Given the description of an element on the screen output the (x, y) to click on. 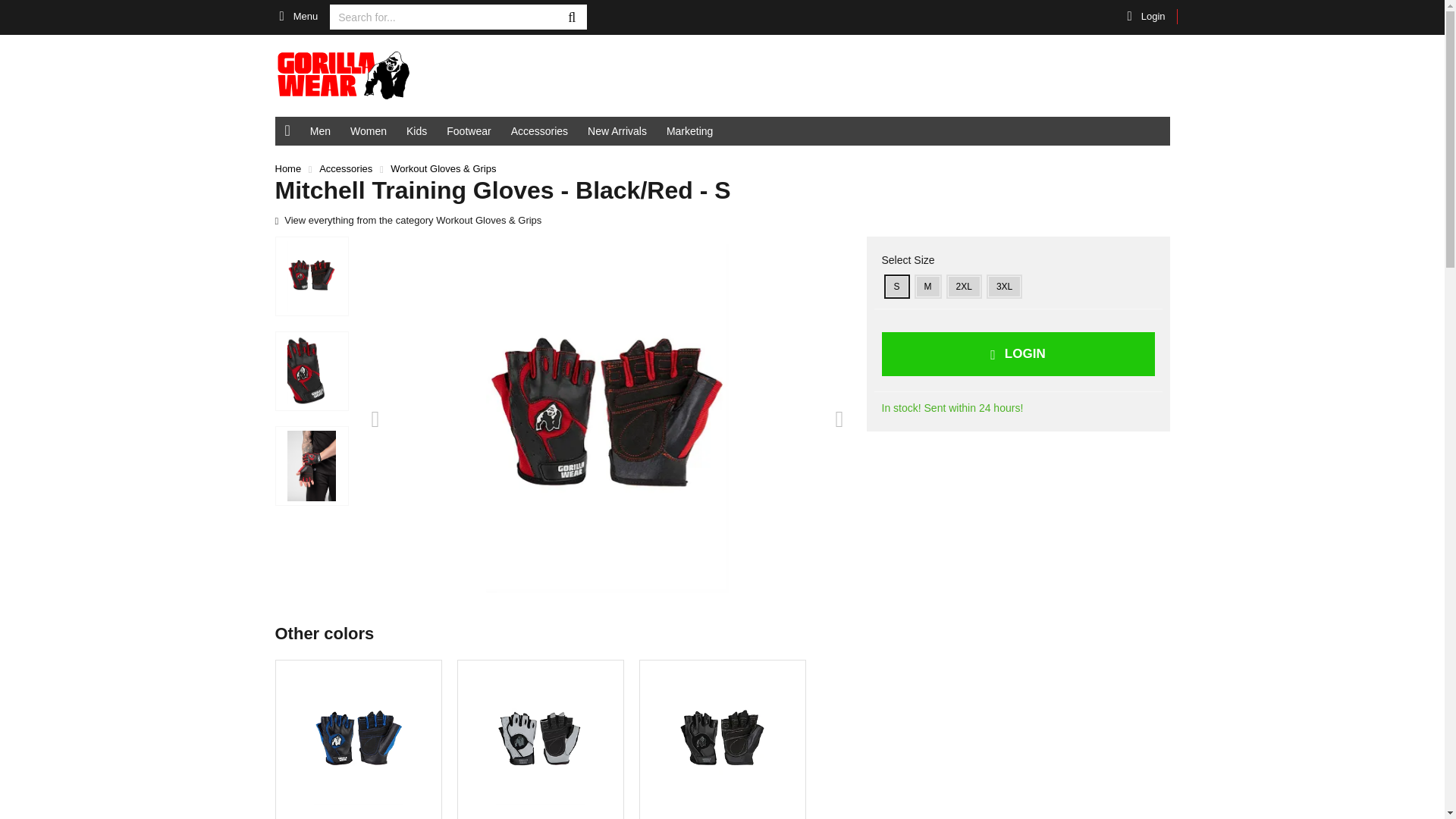
Women (368, 131)
Accessories (539, 131)
Men (319, 131)
New Arrivals (617, 131)
Footwear (468, 131)
Kids (416, 131)
